Given the description of an element on the screen output the (x, y) to click on. 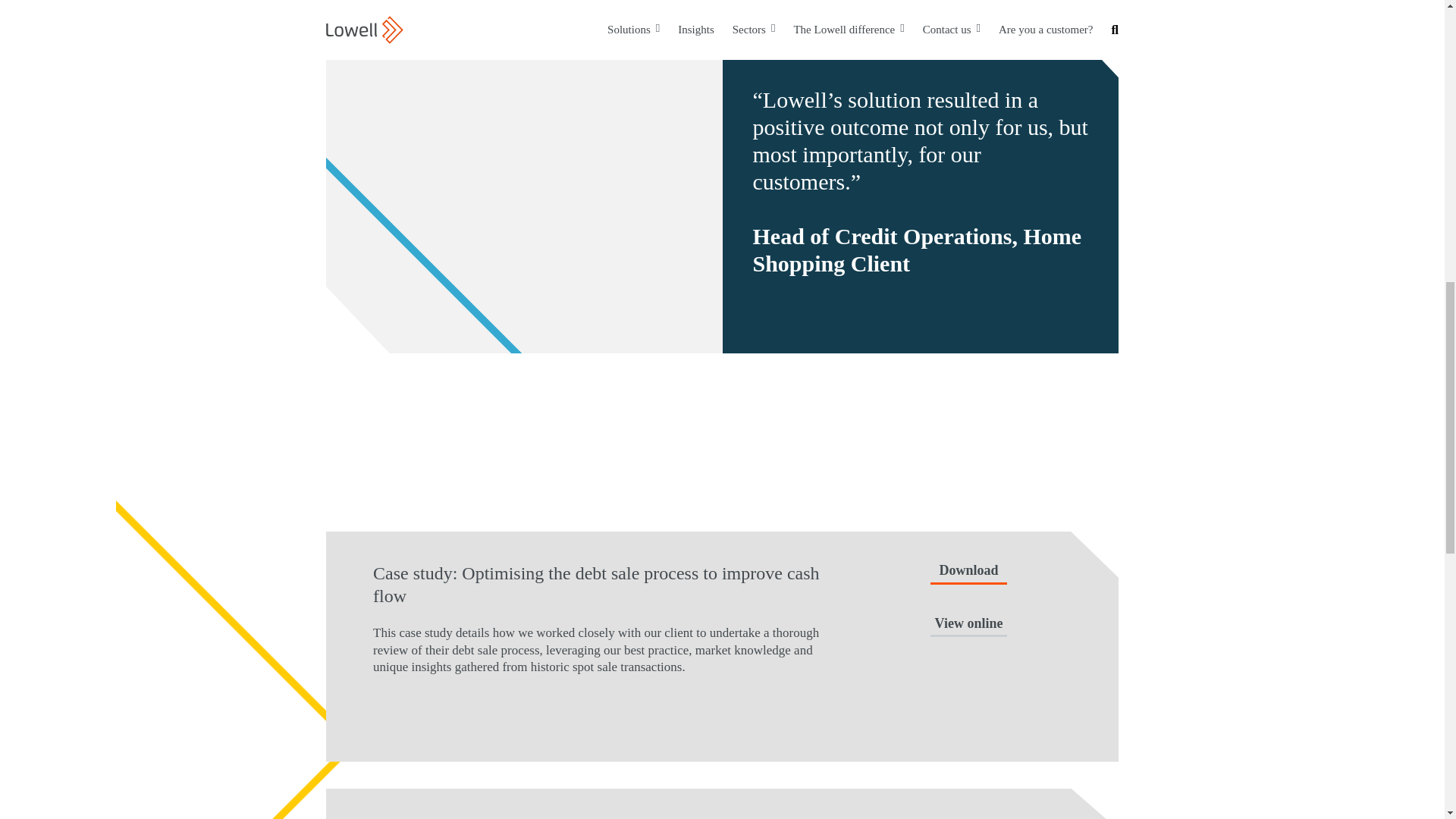
Download (968, 572)
View online (968, 625)
